Given the description of an element on the screen output the (x, y) to click on. 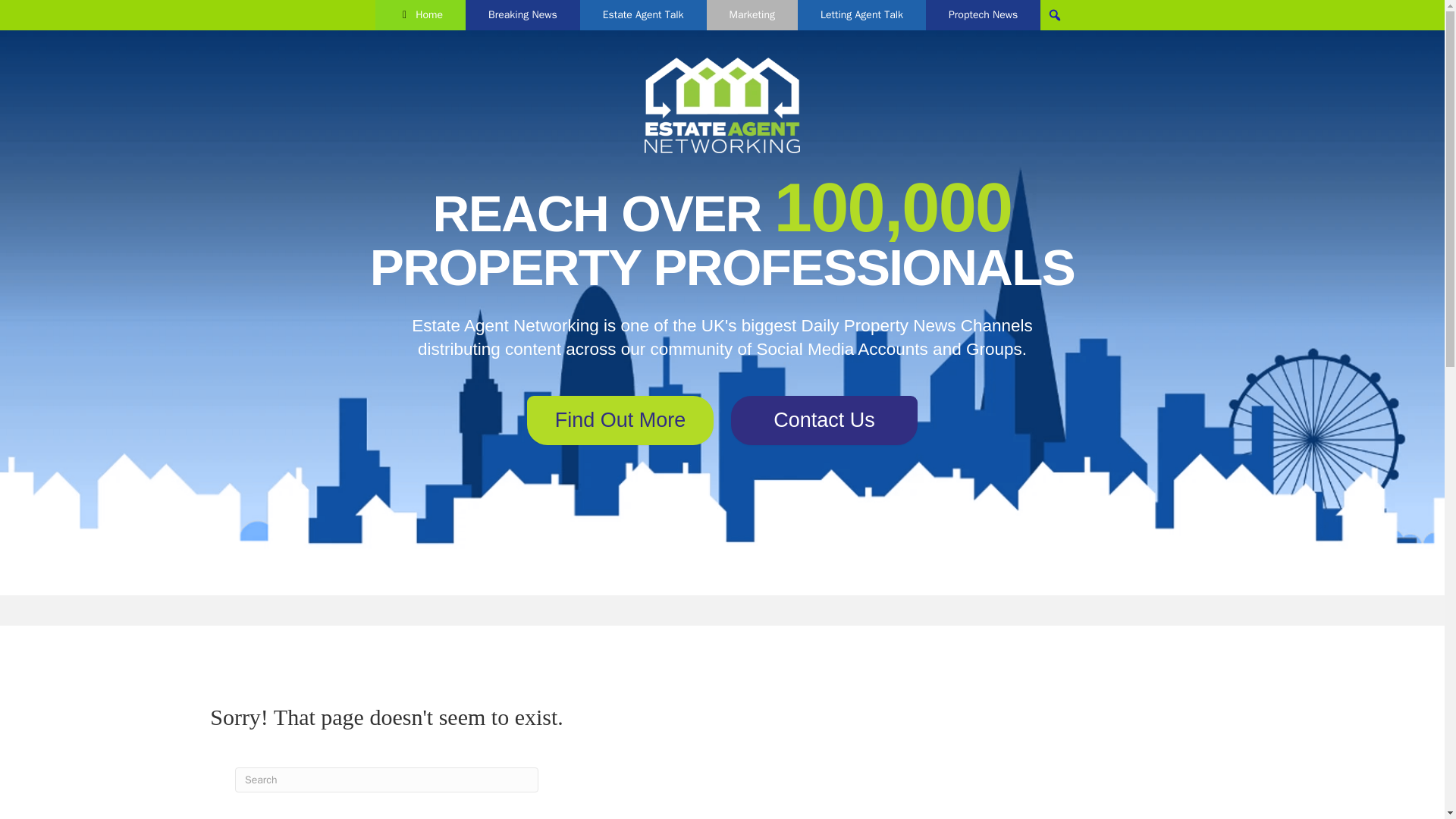
Breaking News (522, 15)
Proptech News (983, 15)
Search (16, 12)
Find Out More (620, 420)
Type and press Enter to search. (386, 780)
Contact Us (824, 420)
Letting Agent Talk (861, 15)
Home (420, 15)
Estate Agent Talk (642, 15)
Marketing (751, 15)
